Given the description of an element on the screen output the (x, y) to click on. 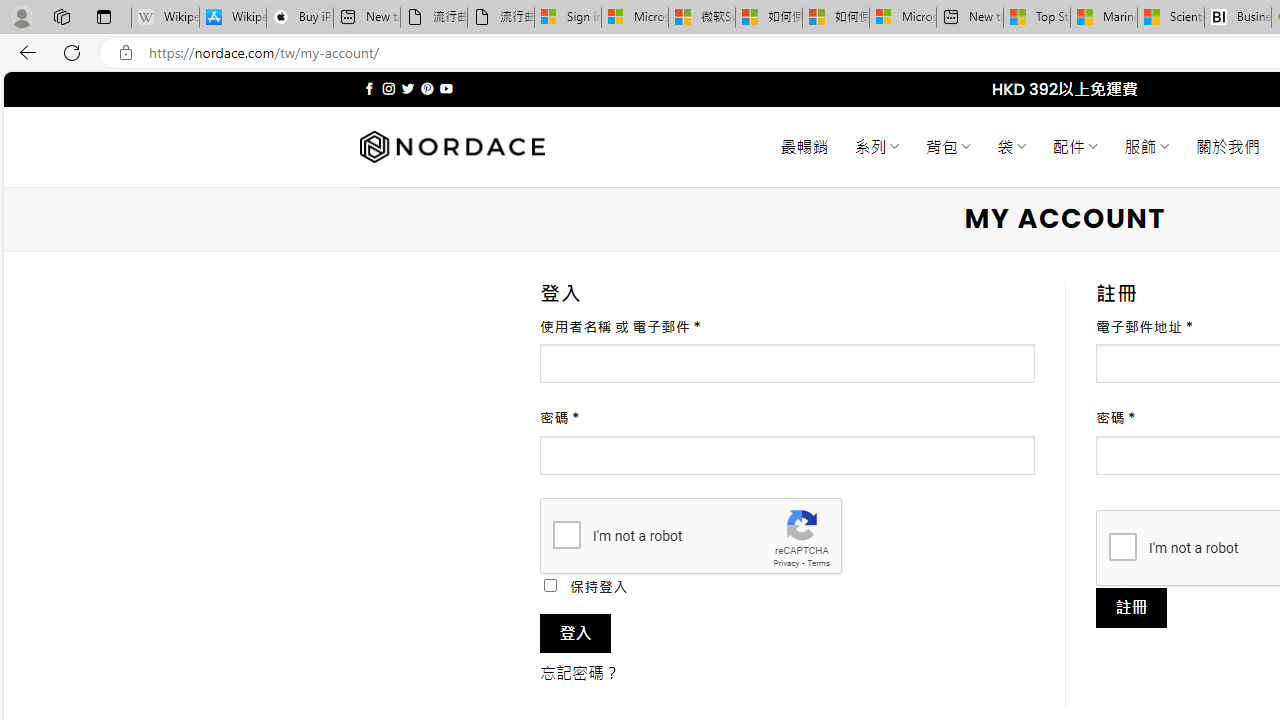
Follow on Instagram (388, 88)
